Given the description of an element on the screen output the (x, y) to click on. 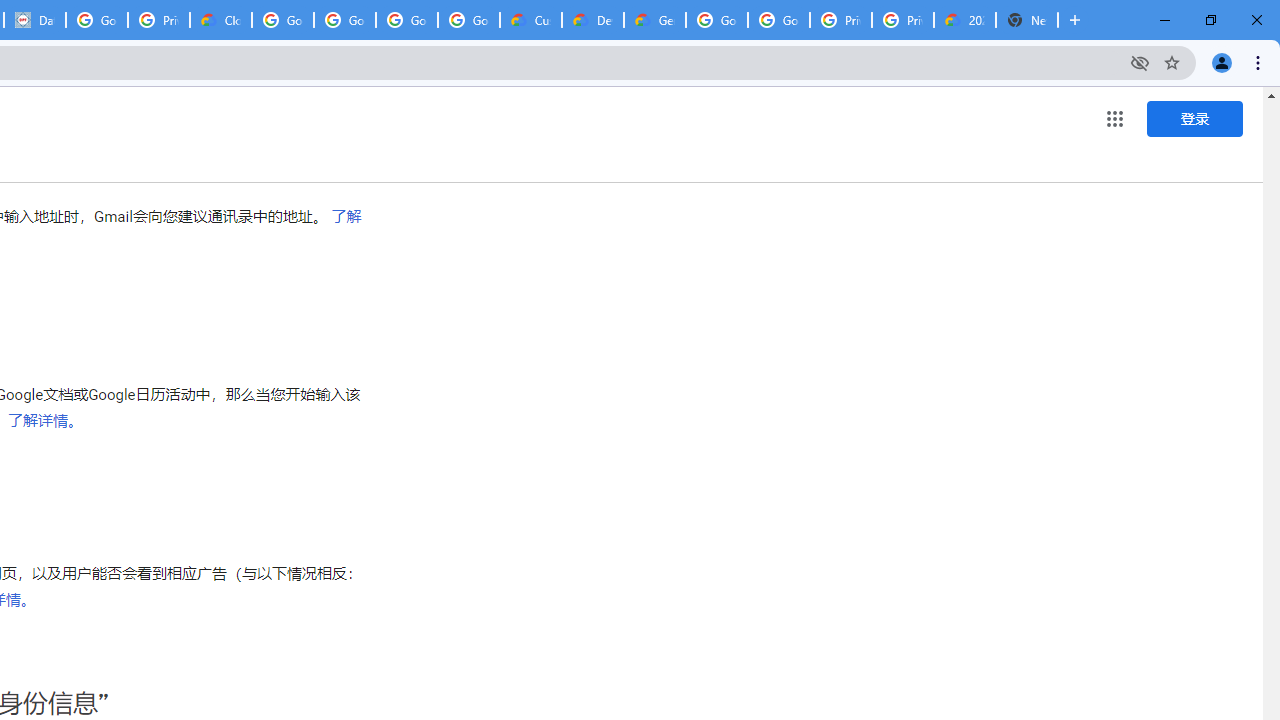
New Tab (1026, 20)
